Given the description of an element on the screen output the (x, y) to click on. 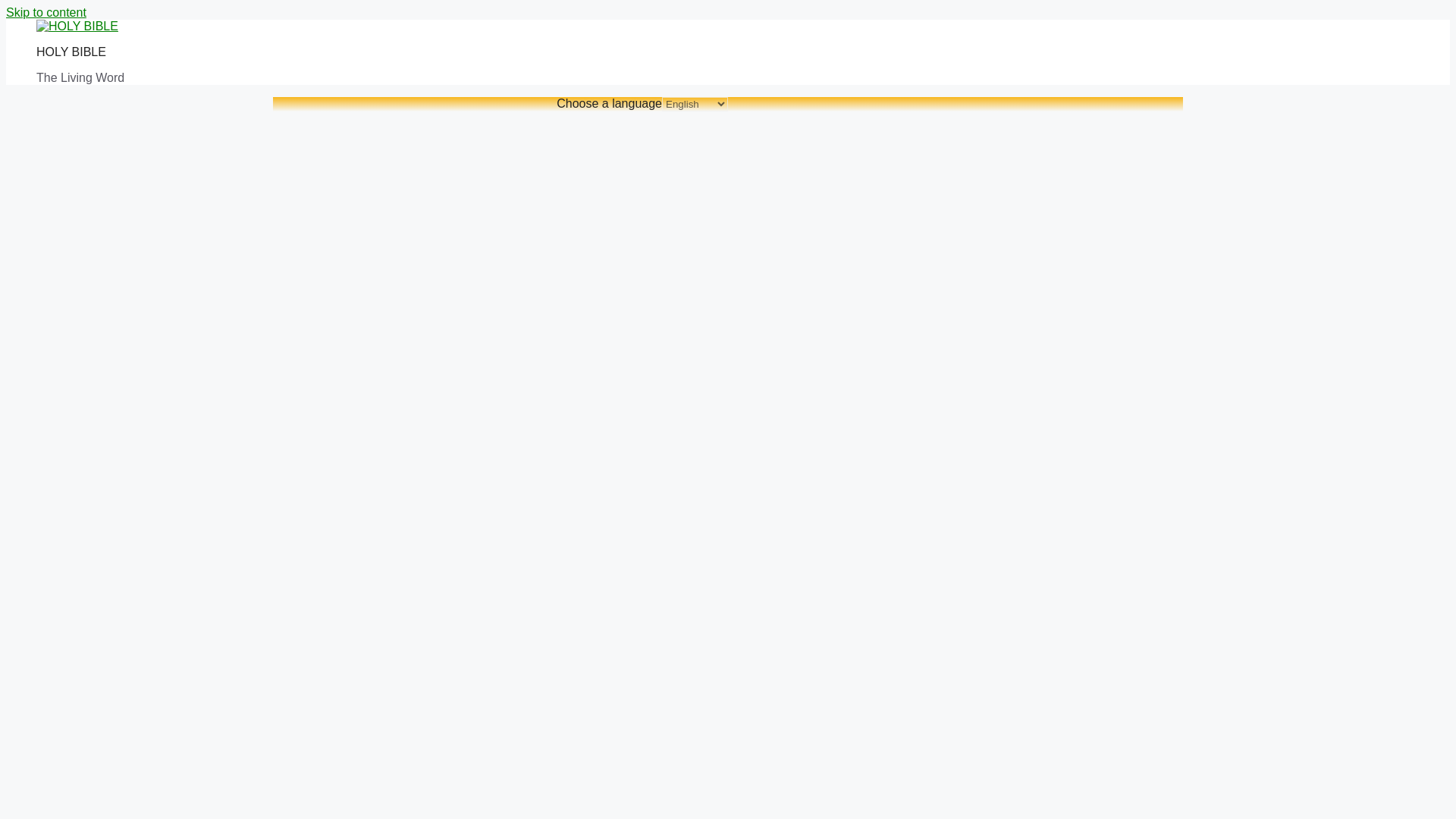
HOLY BIBLE (71, 51)
Skip to content (45, 11)
Skip to content (45, 11)
